Given the description of an element on the screen output the (x, y) to click on. 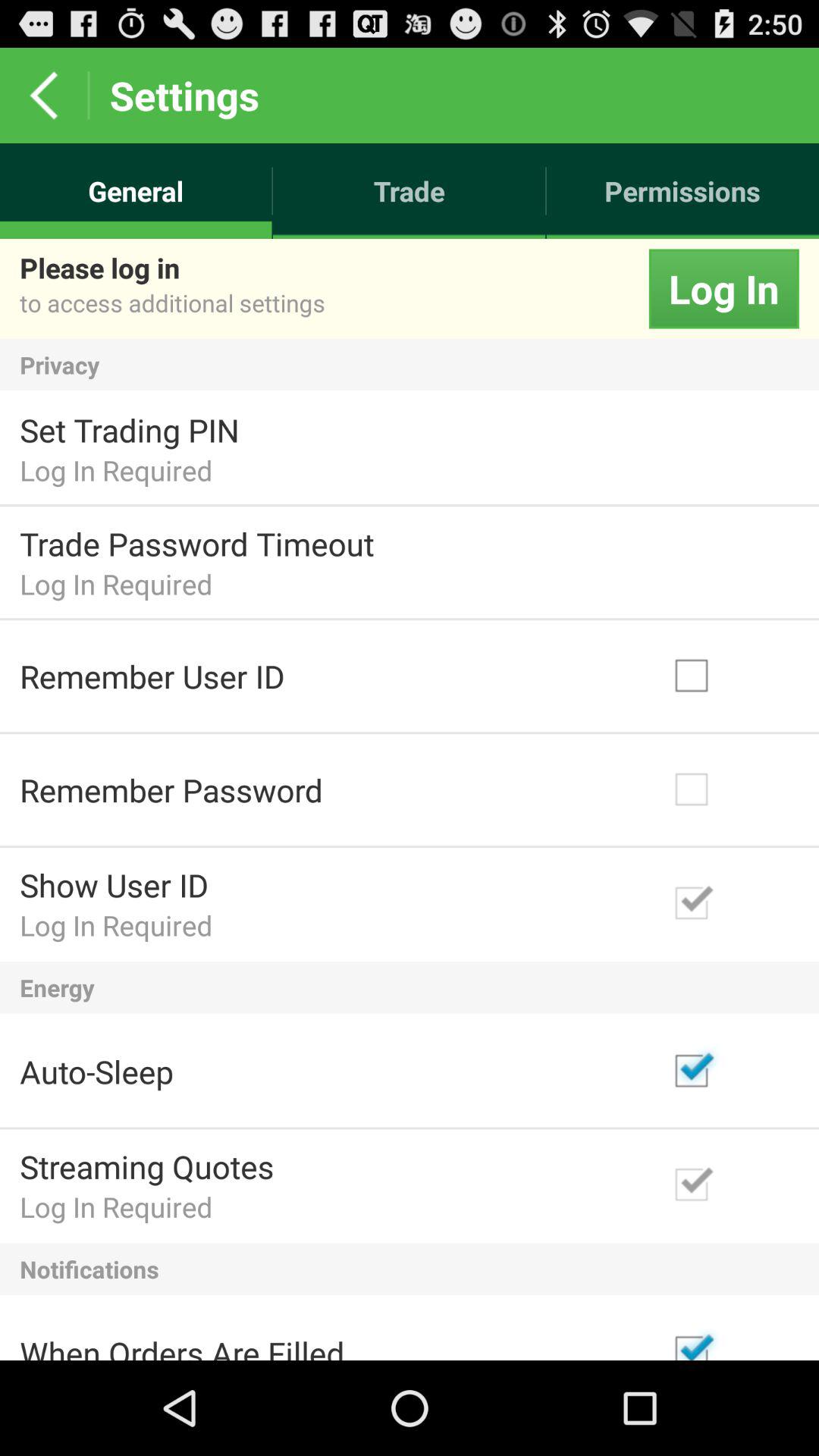
launch app above set trading pin (409, 364)
